Given the description of an element on the screen output the (x, y) to click on. 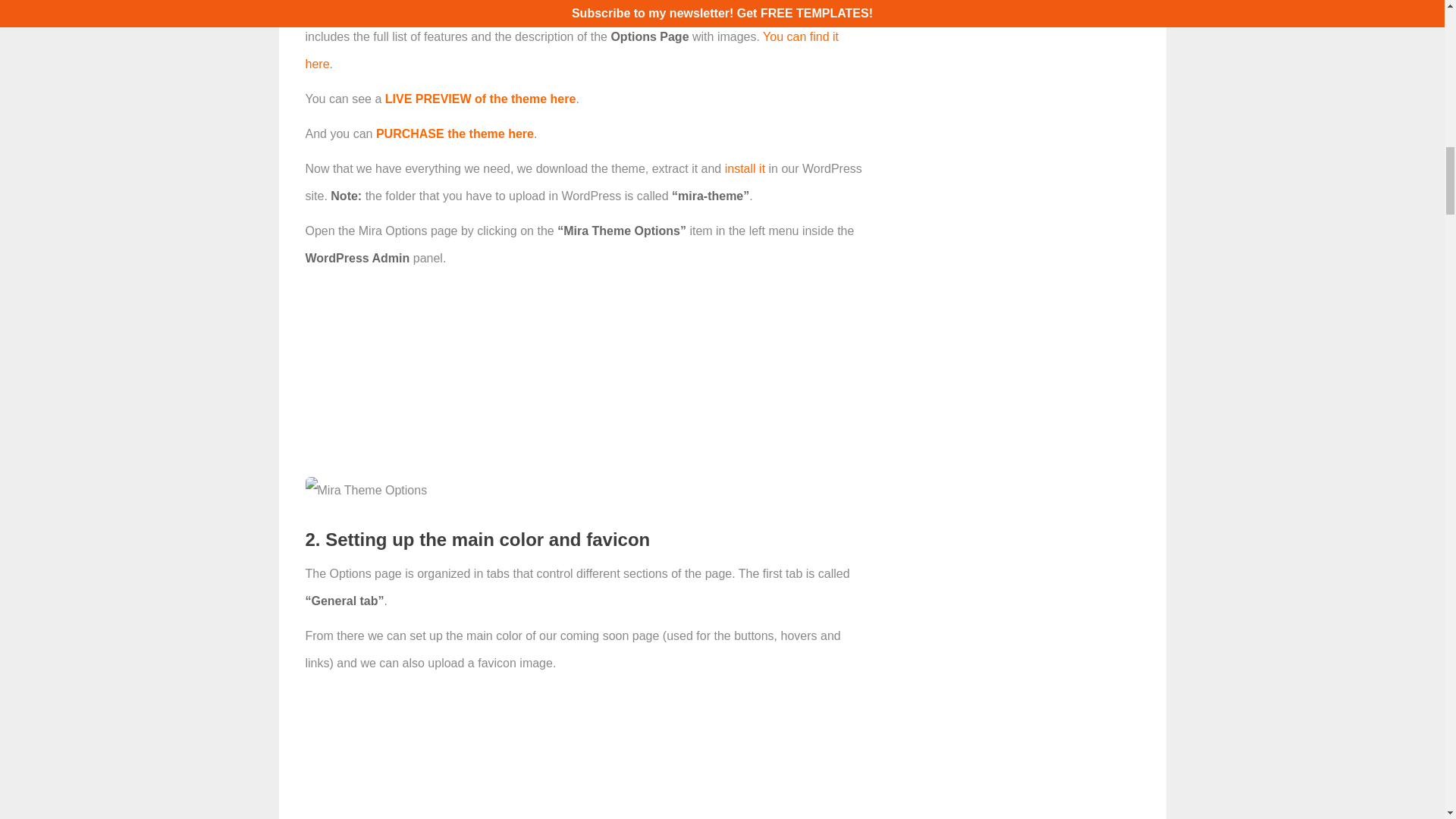
install it (745, 168)
You can find it here (571, 50)
Mira Theme Options (365, 490)
LIVE PREVIEW of the theme here (480, 98)
PURCHASE the theme here (454, 133)
